Given the description of an element on the screen output the (x, y) to click on. 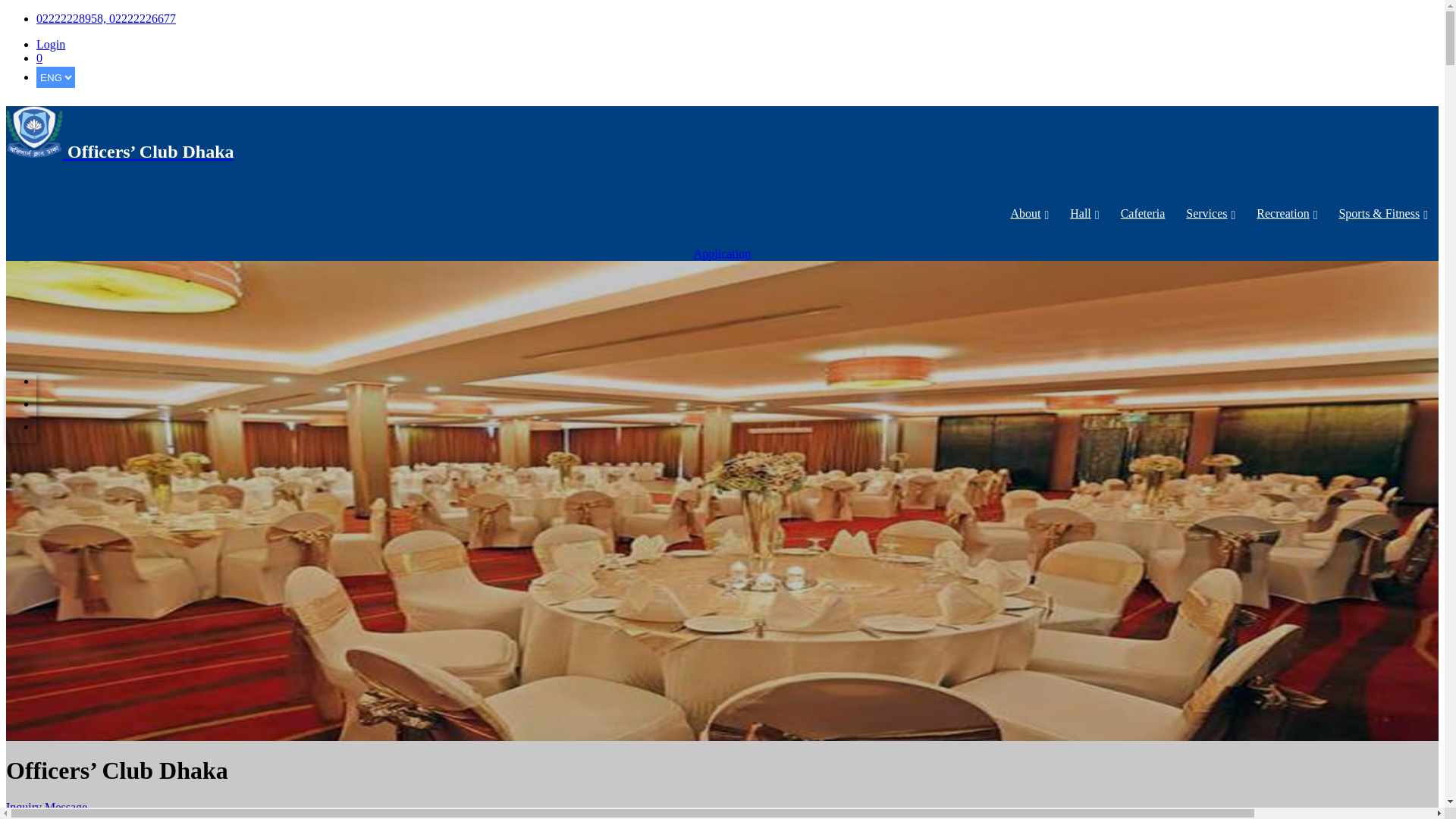
Application Element type: text (722, 253)
Recreation Element type: text (1286, 213)
Message Element type: text (65, 806)
0 Element type: text (39, 57)
02222228958, 02222226677 Element type: text (105, 18)
Cafeteria Element type: text (1143, 213)
Inquiry Element type: text (23, 806)
Services Element type: text (1210, 213)
Login Element type: text (50, 43)
Hall Element type: text (1084, 213)
Sports & Fitness Element type: text (1382, 213)
About Element type: text (1029, 213)
